Given the description of an element on the screen output the (x, y) to click on. 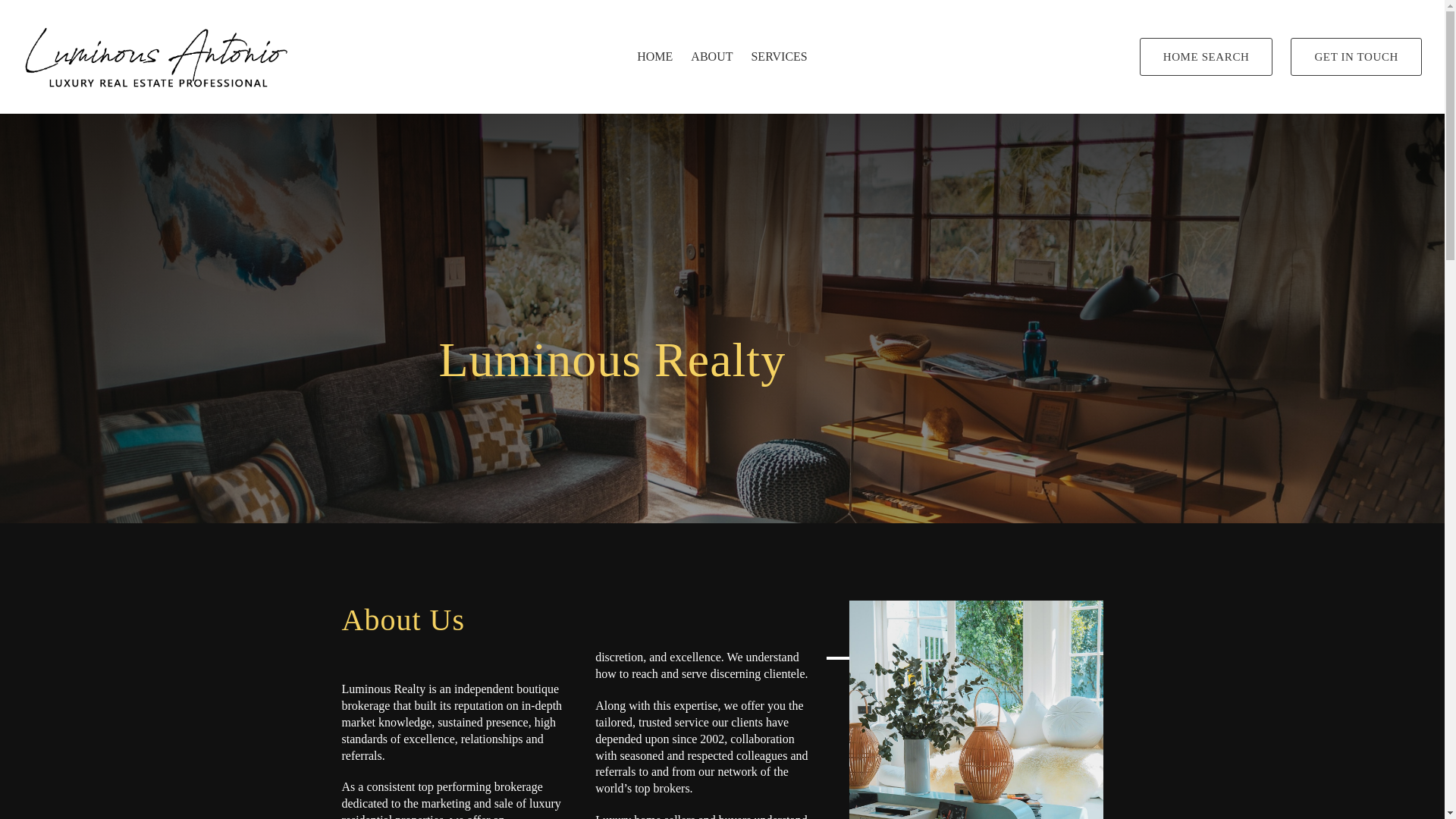
ABOUT (711, 56)
HOME SEARCH (1206, 56)
HOME (654, 56)
GET IN TOUCH (1356, 56)
SERVICES (778, 56)
